Given the description of an element on the screen output the (x, y) to click on. 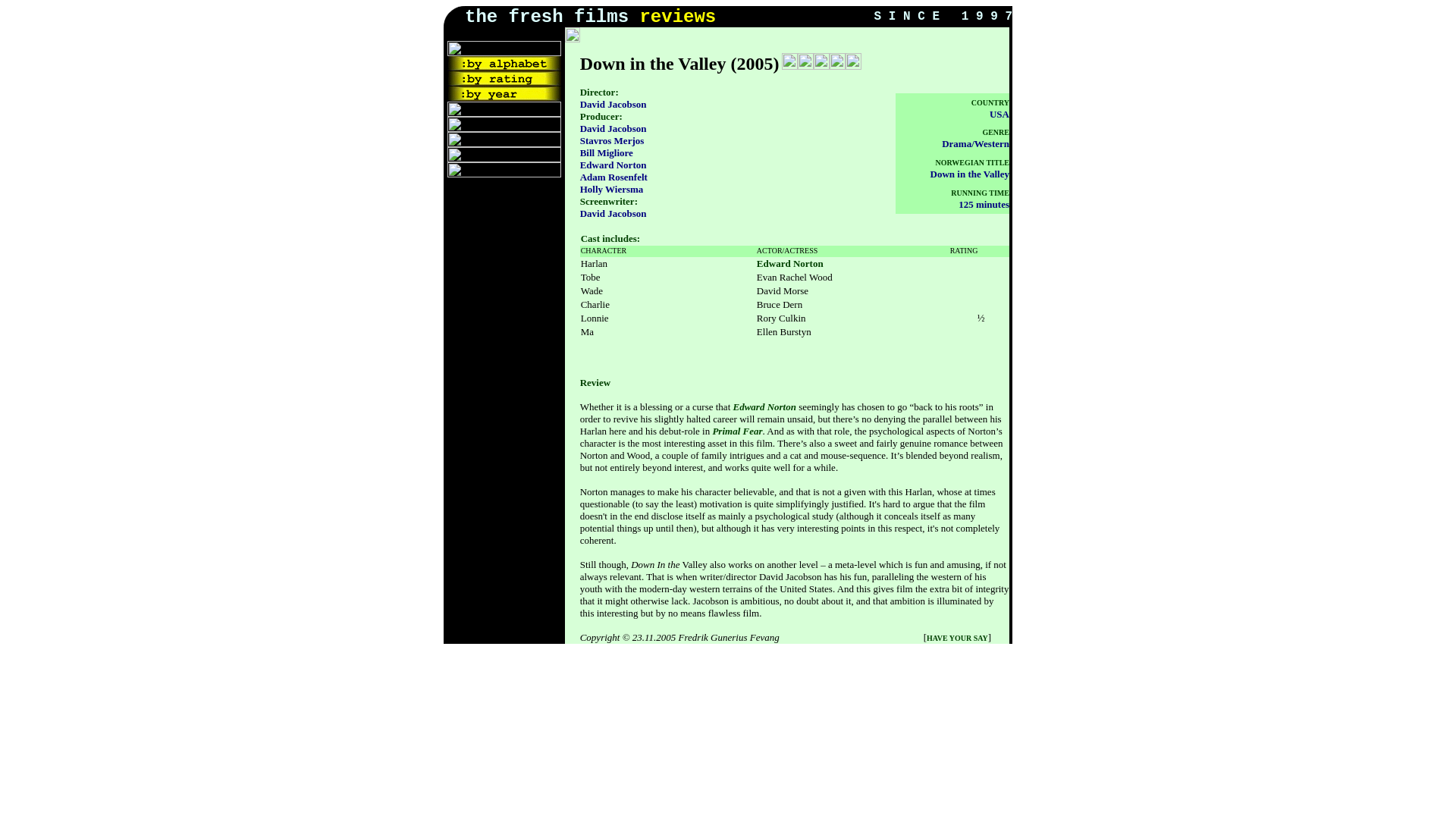
HAVE YOUR SAY (957, 635)
Review (594, 381)
Edward Norton (763, 406)
Edward Norton (790, 263)
Director (597, 91)
Primal Fear (736, 430)
